Given the description of an element on the screen output the (x, y) to click on. 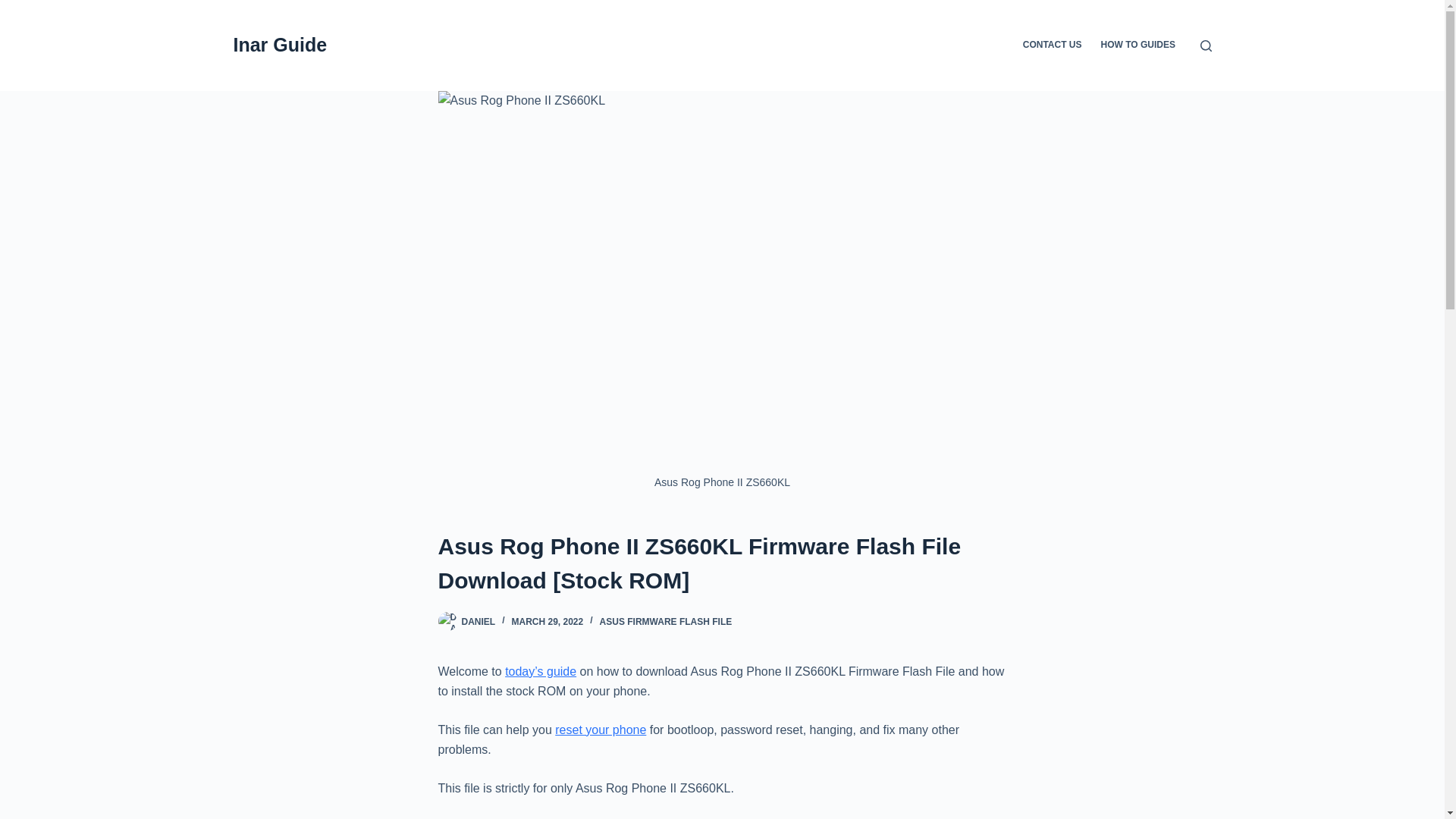
Posts by Daniel (478, 621)
ASUS FIRMWARE FLASH FILE (665, 621)
Inar Guide (279, 44)
DANIEL (478, 621)
Skip to content (15, 7)
reset your phone (600, 729)
HOW TO GUIDES (1137, 45)
